Given the description of an element on the screen output the (x, y) to click on. 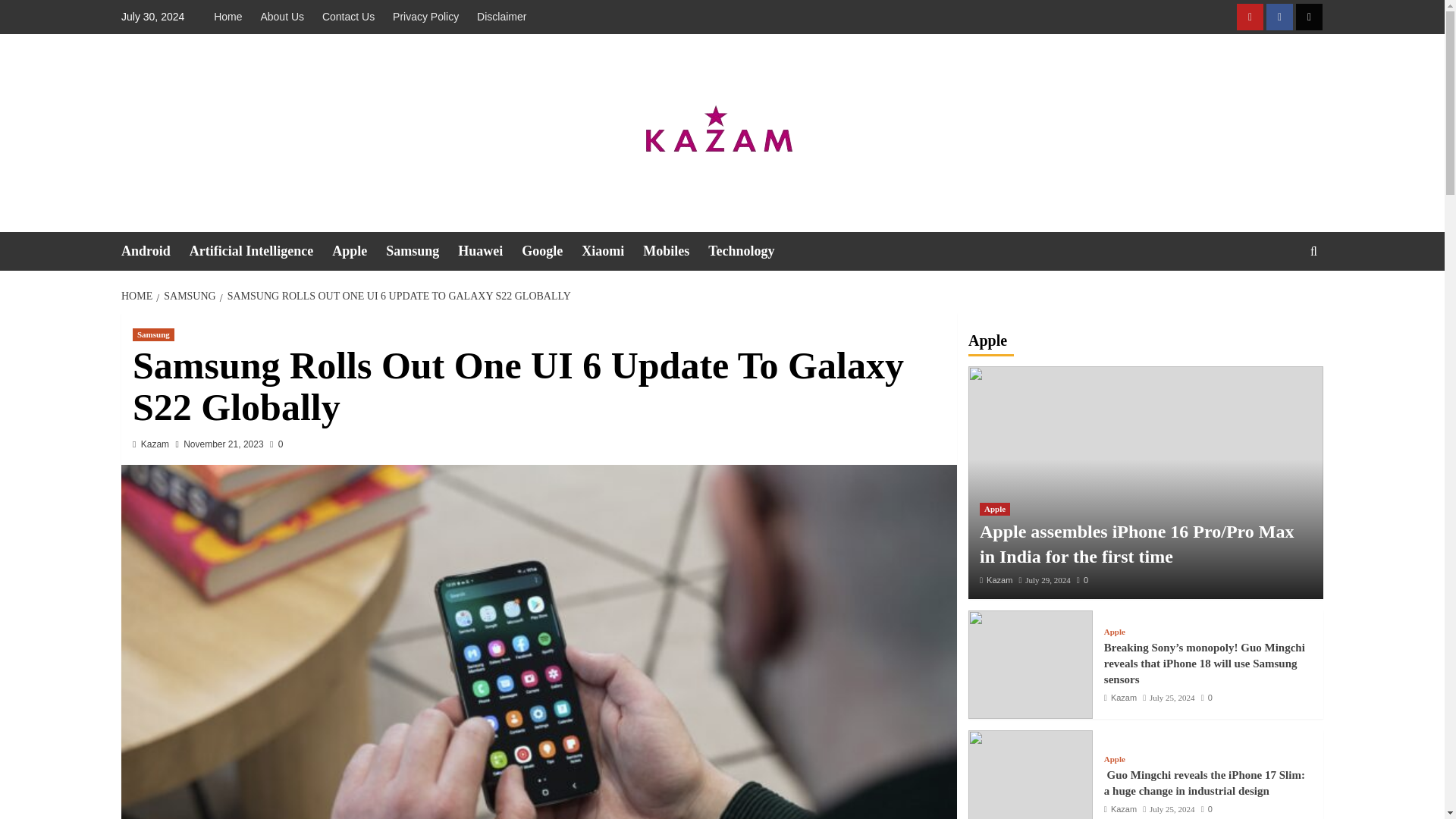
Technology (750, 251)
Search (1278, 297)
Contact Us (347, 17)
Huawei (489, 251)
HOME (137, 296)
Samsung (153, 334)
Apple (358, 251)
Xiaomi (611, 251)
Privacy Policy (425, 17)
Mobiles (675, 251)
Samsung (421, 251)
Twitter (1308, 17)
Facebook (1279, 17)
